Given the description of an element on the screen output the (x, y) to click on. 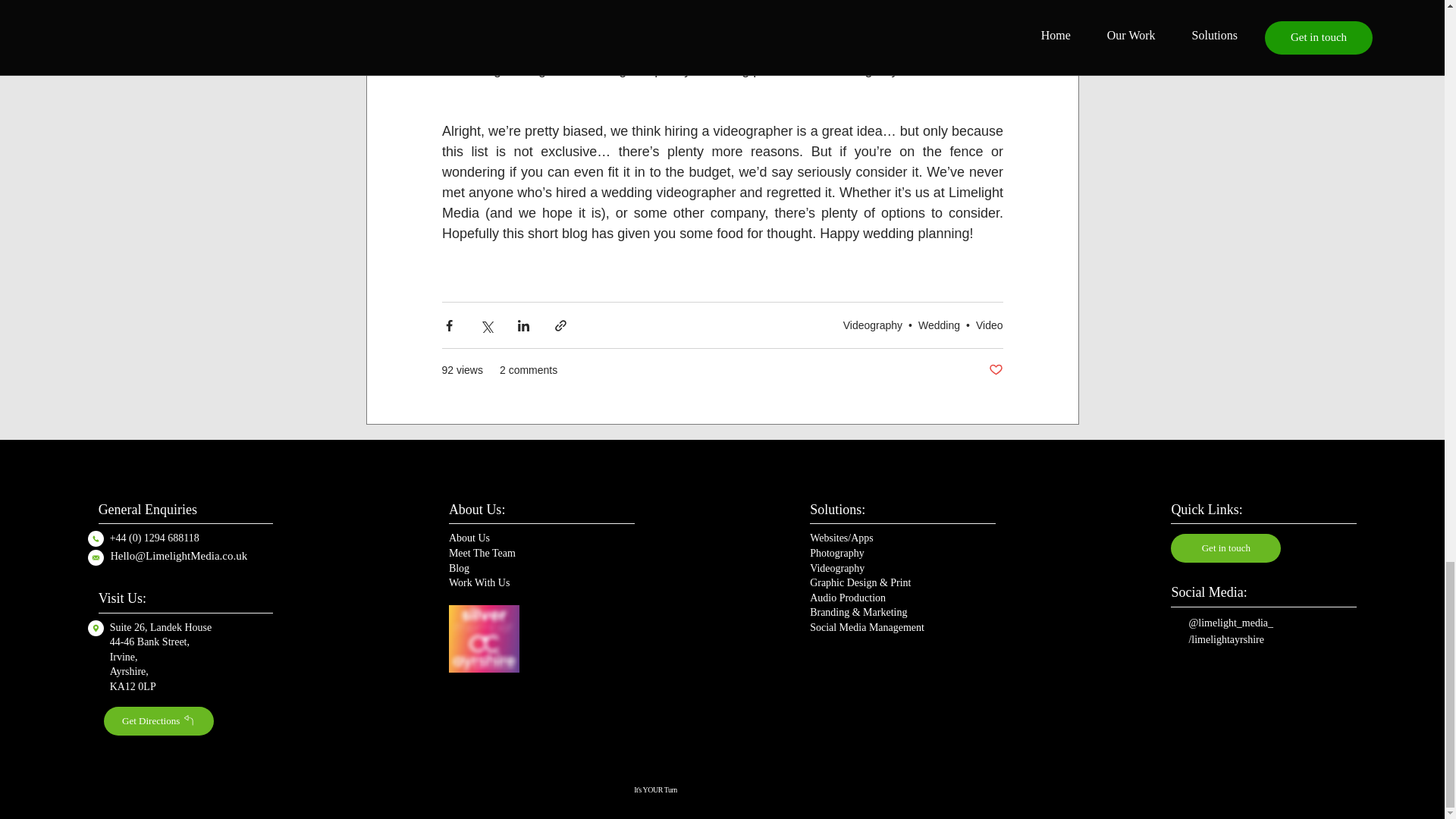
Videography (872, 325)
Audio Production (847, 597)
Wedding (938, 325)
About Us (468, 537)
Video (989, 325)
Photography (836, 552)
Get Directions (158, 720)
Post not marked as liked (995, 370)
Blog (458, 567)
Get in touch (1225, 547)
